Given the description of an element on the screen output the (x, y) to click on. 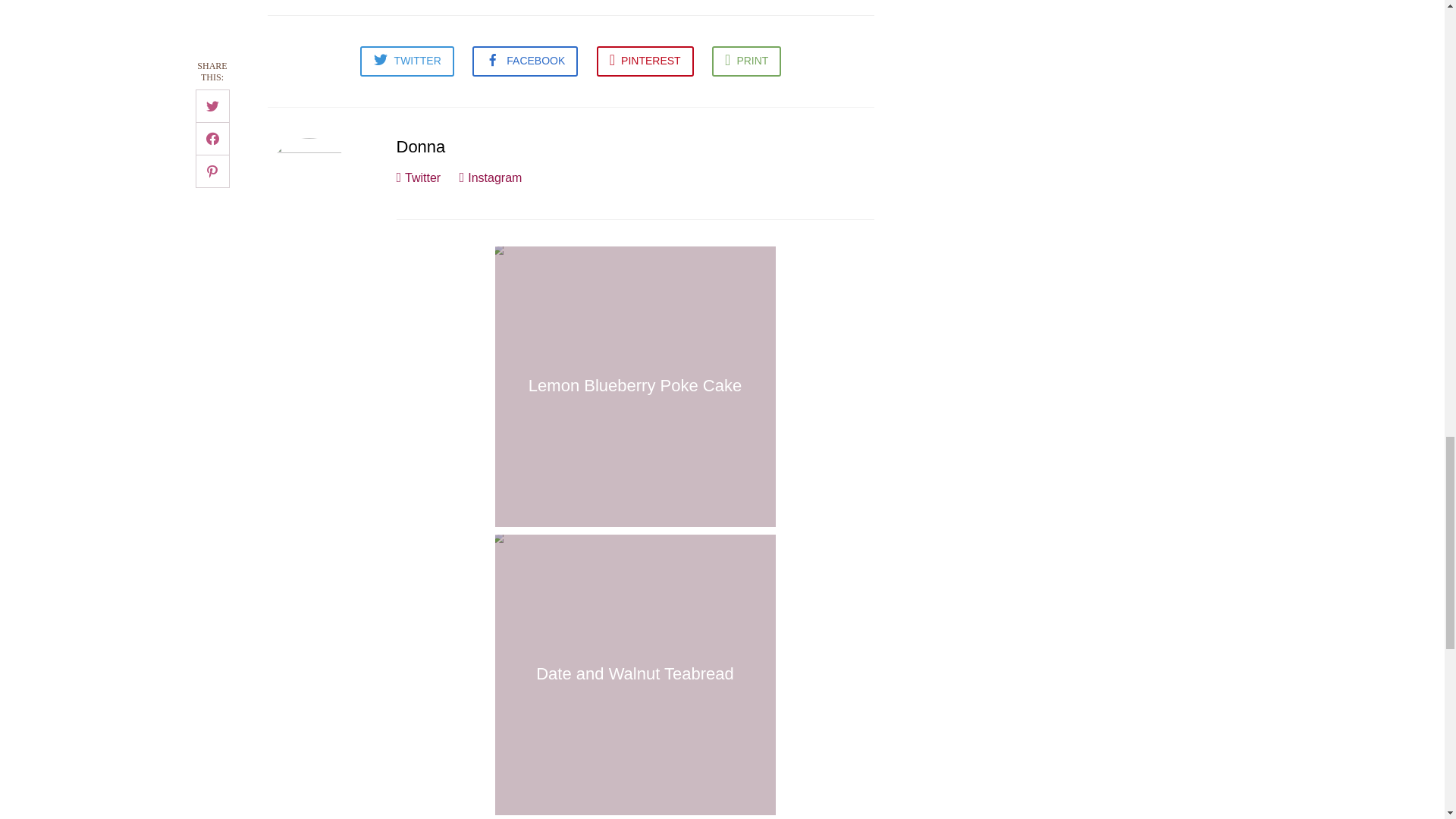
Share this on Facebook (524, 60)
Tweet this on Twitter (406, 60)
